Given the description of an element on the screen output the (x, y) to click on. 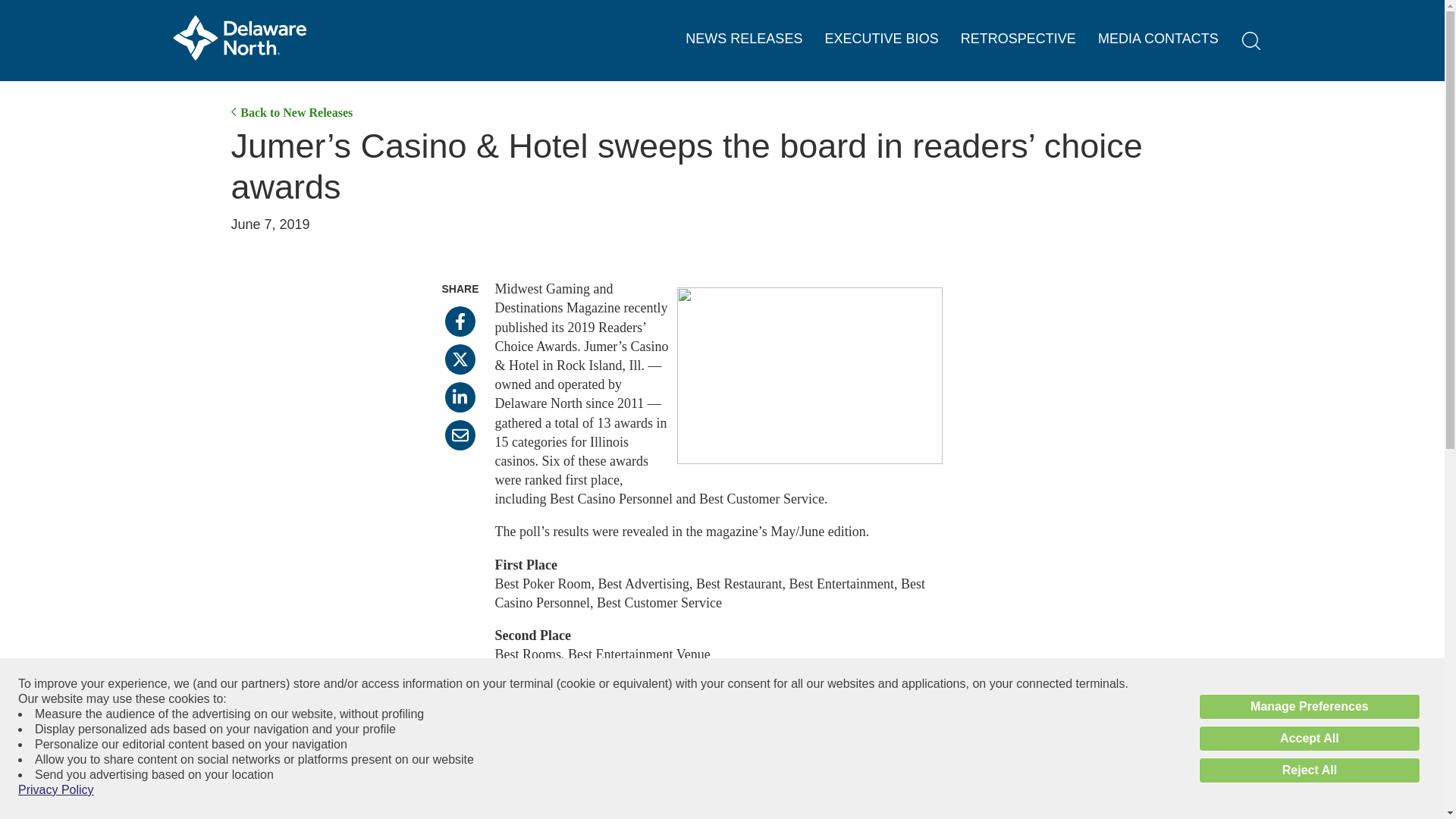
Accept All (1309, 738)
Manage Preferences (1309, 706)
Reject All (1309, 769)
Privacy Policy (55, 789)
NEWS RELEASES (743, 39)
RETROSPECTIVE (1017, 39)
EXECUTIVE BIOS (882, 39)
Back to New Releases (291, 112)
MEDIA CONTACTS (1157, 39)
